Given the description of an element on the screen output the (x, y) to click on. 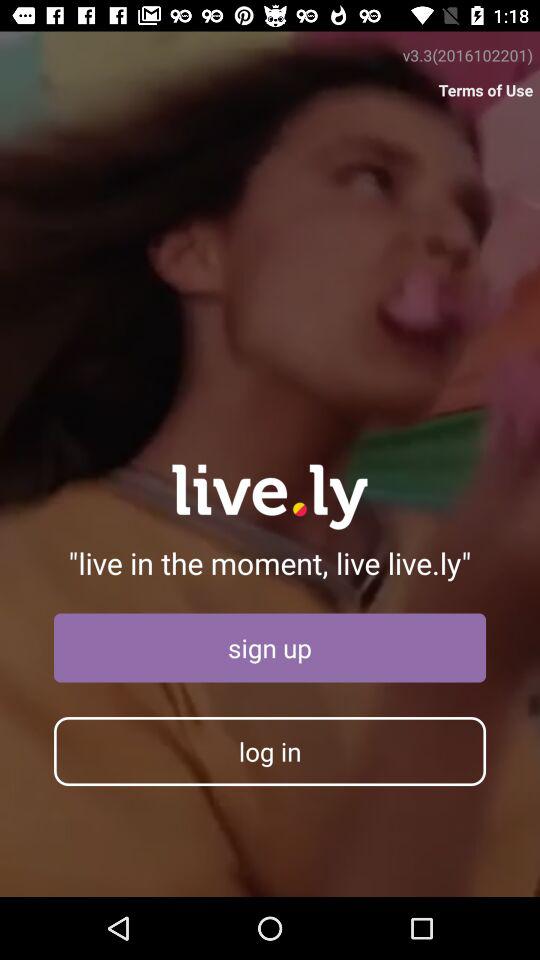
press the item below the v3.3(2016102201) item (486, 89)
